Given the description of an element on the screen output the (x, y) to click on. 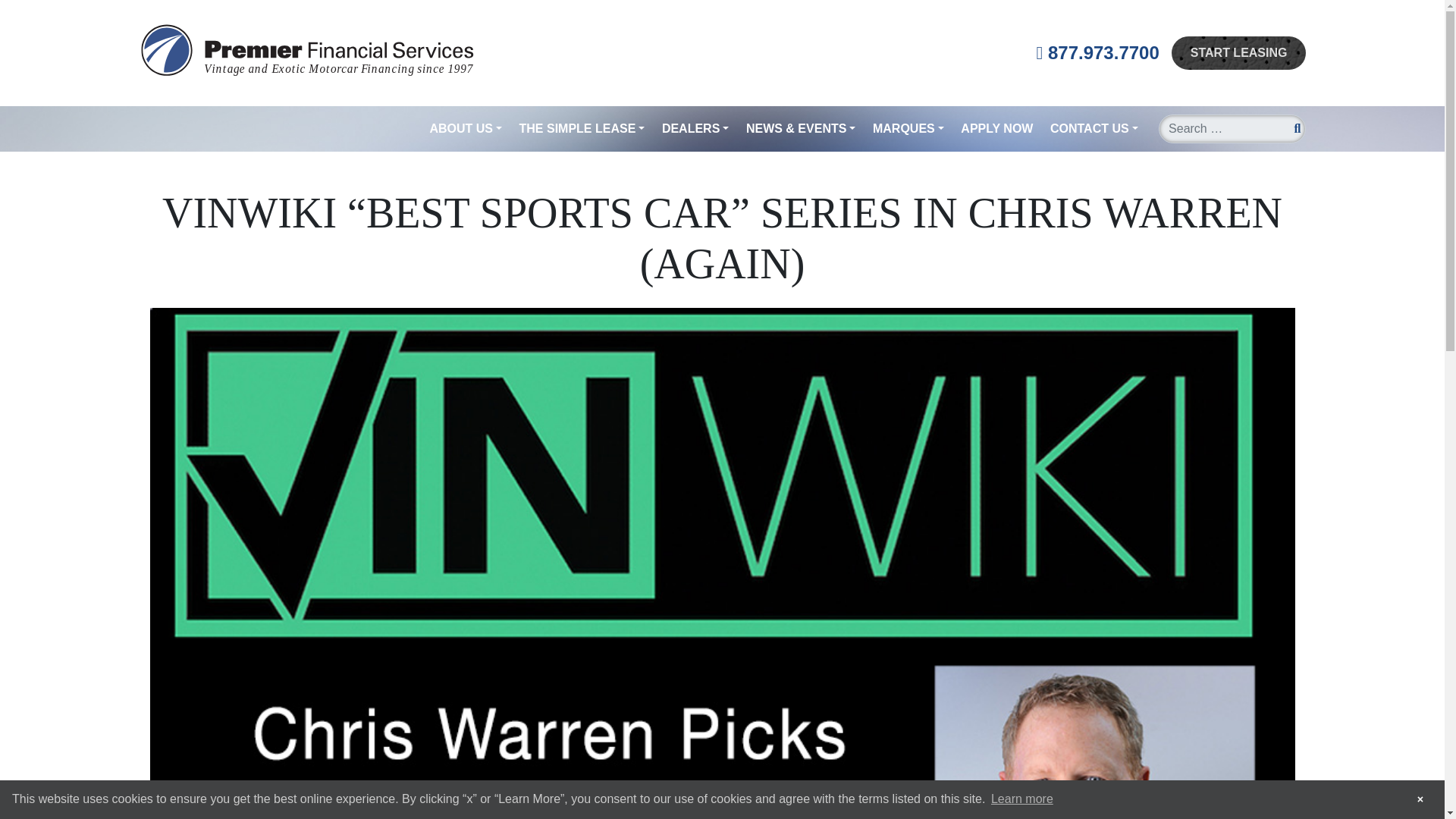
877.973.7700 (1097, 52)
START LEASING (1239, 52)
THE SIMPLE LEASE (581, 128)
Learn more (1021, 798)
ABOUT US (465, 128)
DEALERS (695, 128)
